Given the description of an element on the screen output the (x, y) to click on. 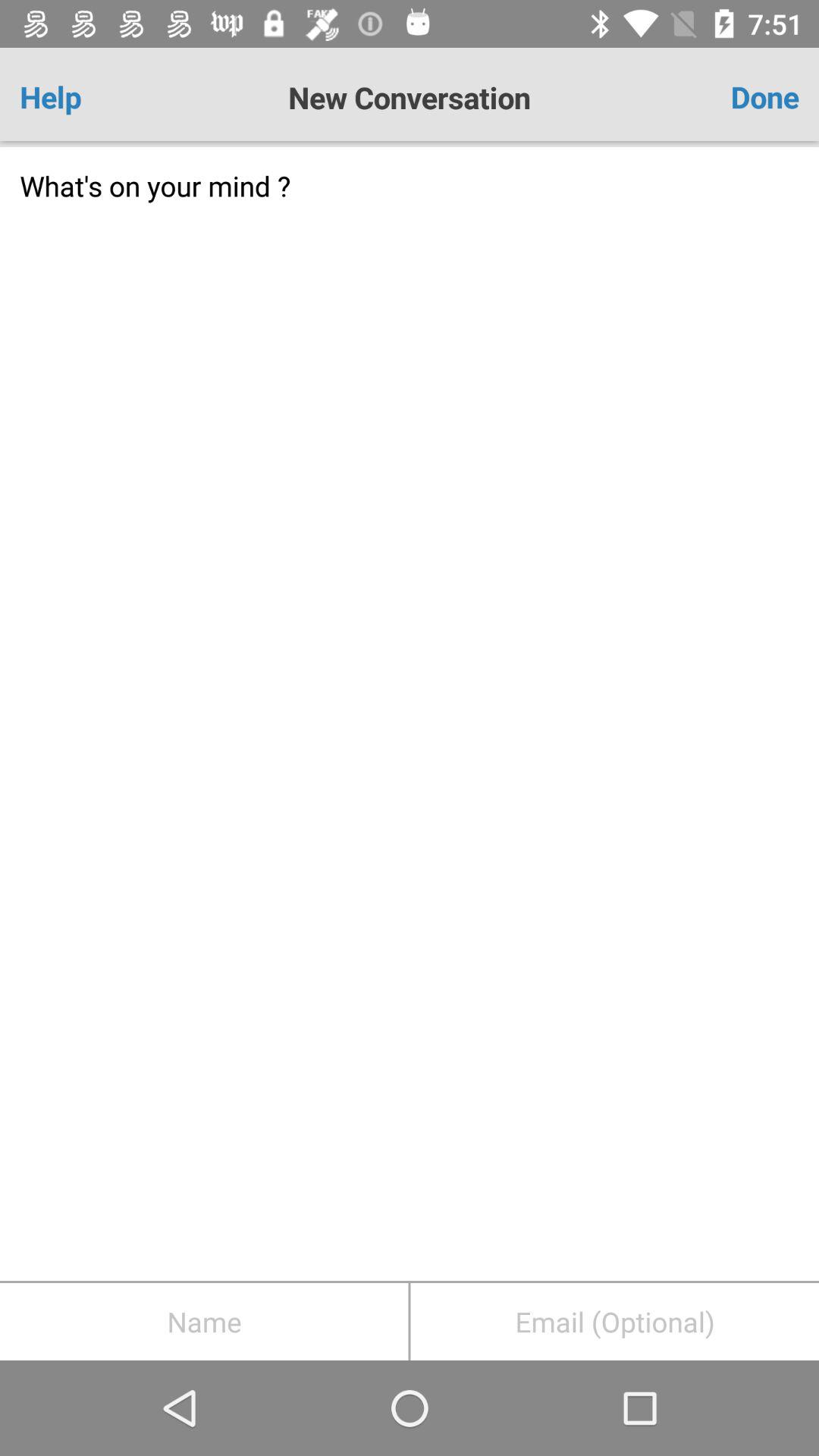
write down what 's on your mind (409, 713)
